Given the description of an element on the screen output the (x, y) to click on. 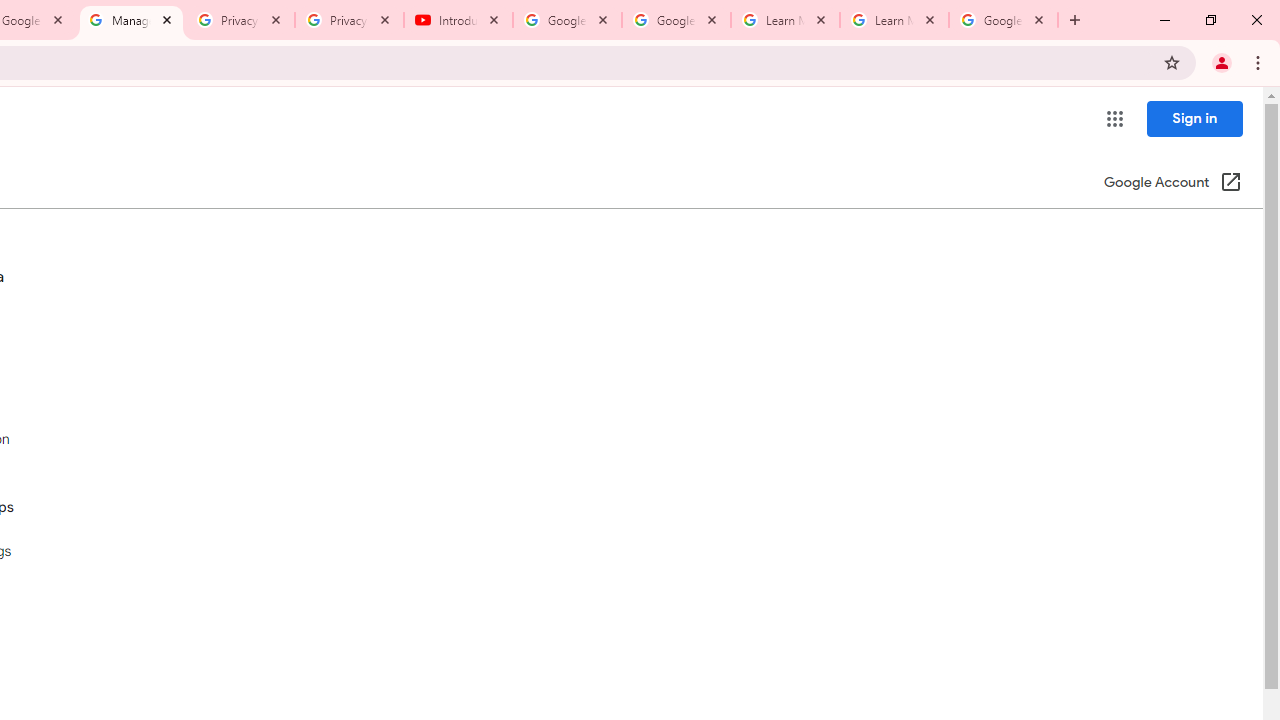
Manage location permissions for apps - Google Account Help (130, 20)
